Given the description of an element on the screen output the (x, y) to click on. 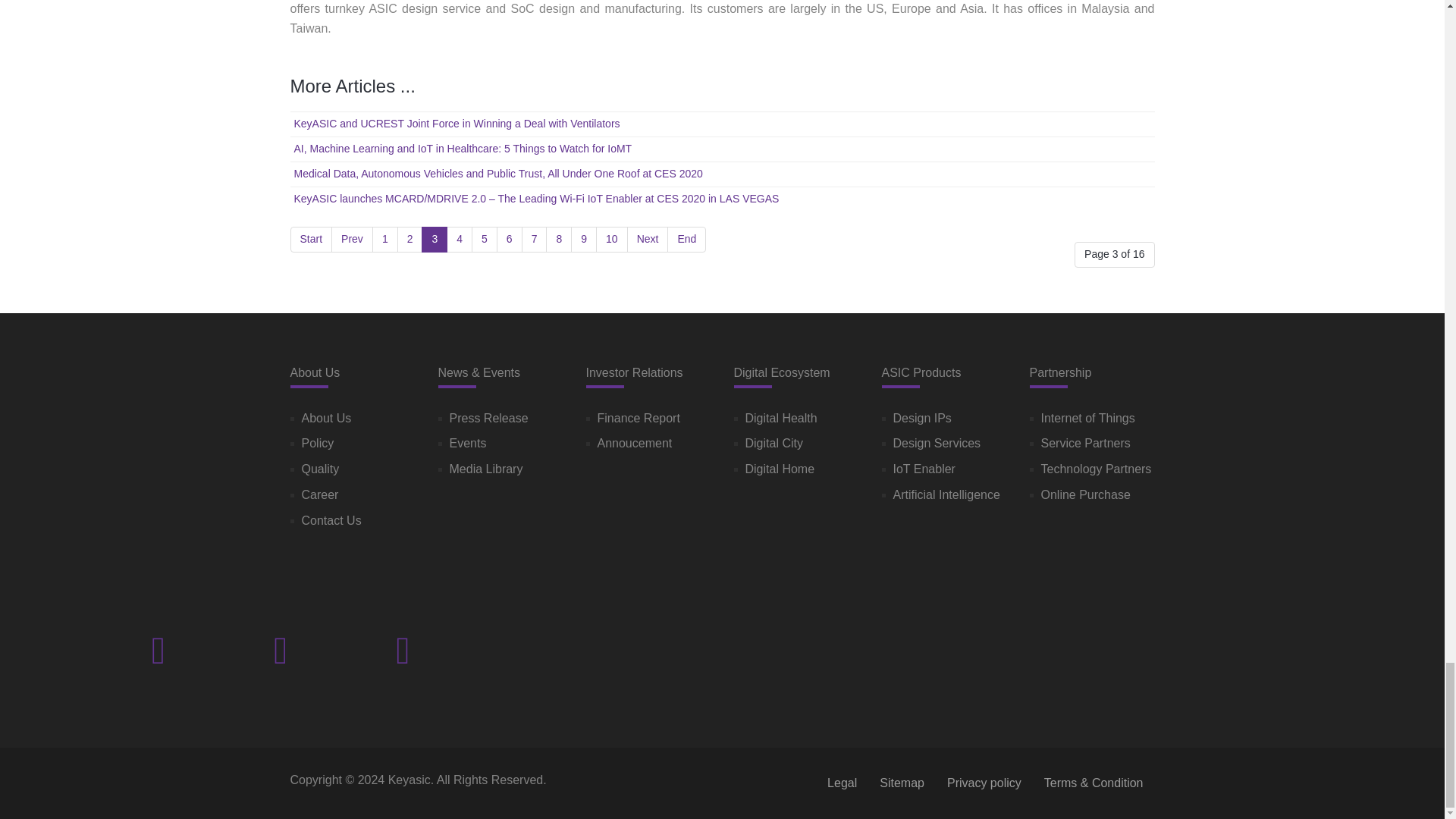
2 (410, 239)
1 (384, 239)
Start (310, 239)
5 (484, 239)
6 (509, 239)
4 (458, 239)
Prev (351, 239)
